Given the description of an element on the screen output the (x, y) to click on. 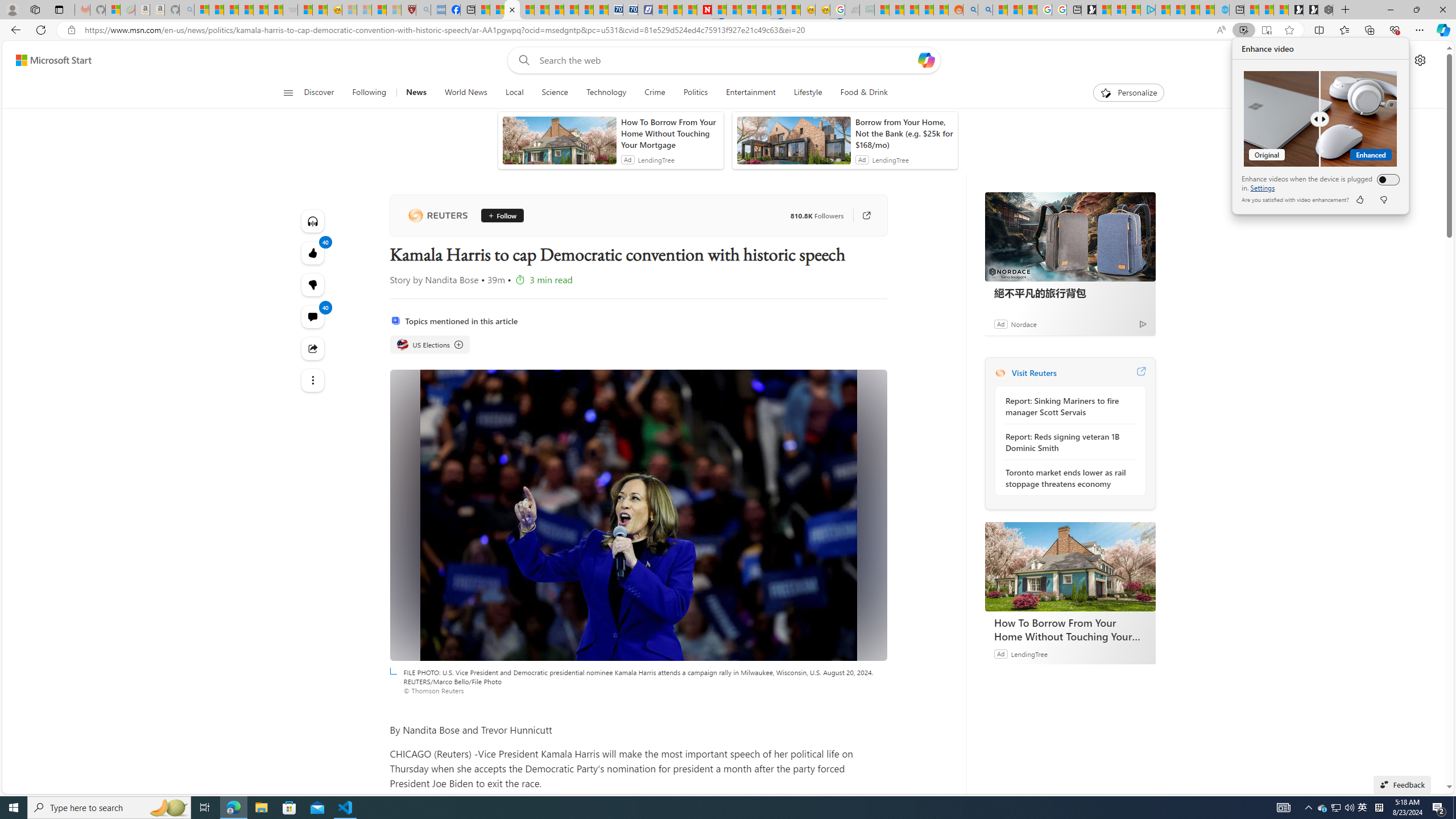
New Report Confirms 2023 Was Record Hot | Watch (260, 9)
Reuters (437, 215)
Newsweek - News, Analysis, Politics, Business, Technology (703, 9)
Reuters (1000, 372)
